Given the description of an element on the screen output the (x, y) to click on. 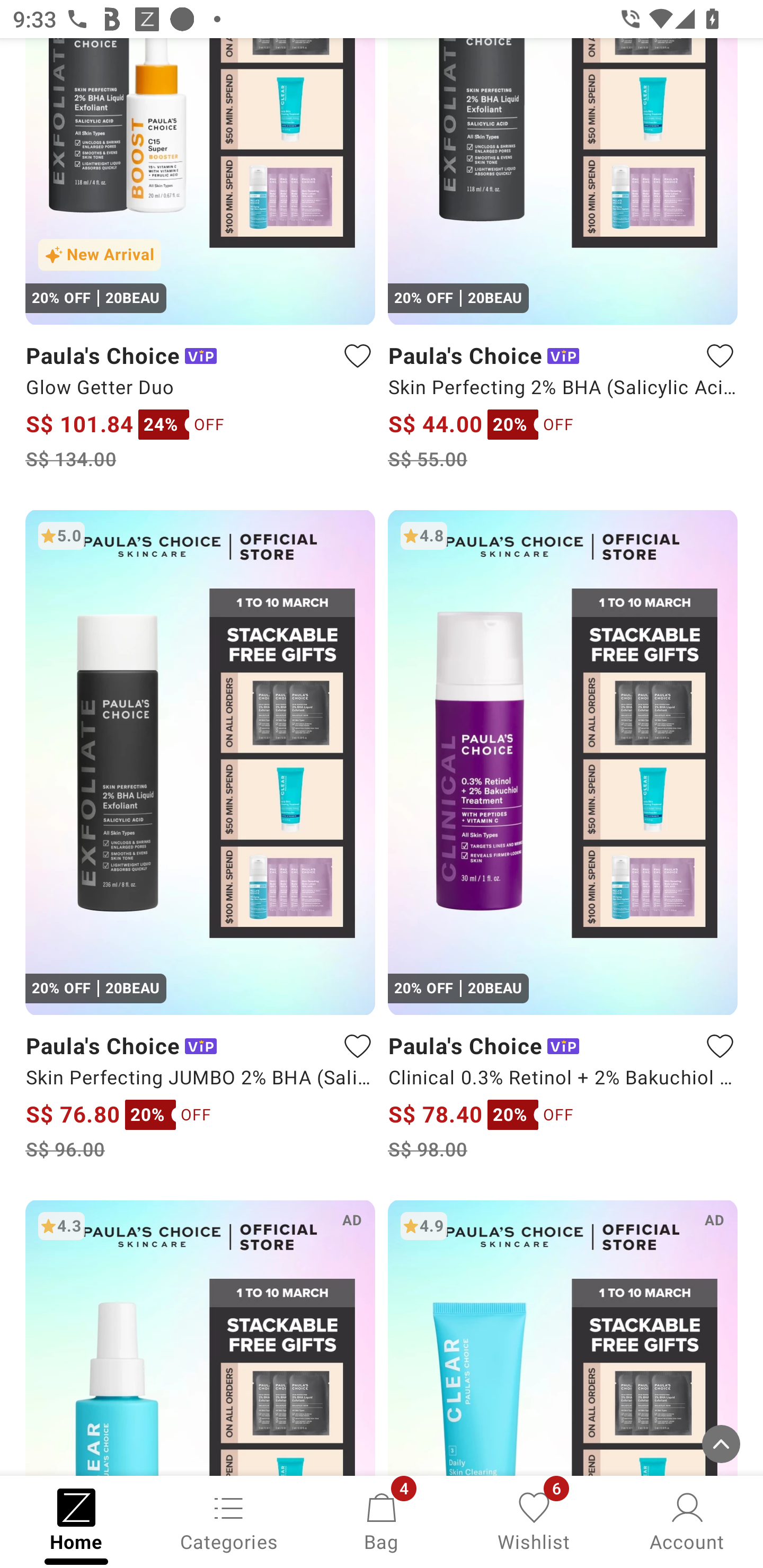
4.3 AD (200, 1337)
4.9 AD (562, 1337)
Categories (228, 1519)
Bag, 4 new notifications Bag (381, 1519)
Wishlist, 6 new notifications Wishlist (533, 1519)
Account (686, 1519)
